Given the description of an element on the screen output the (x, y) to click on. 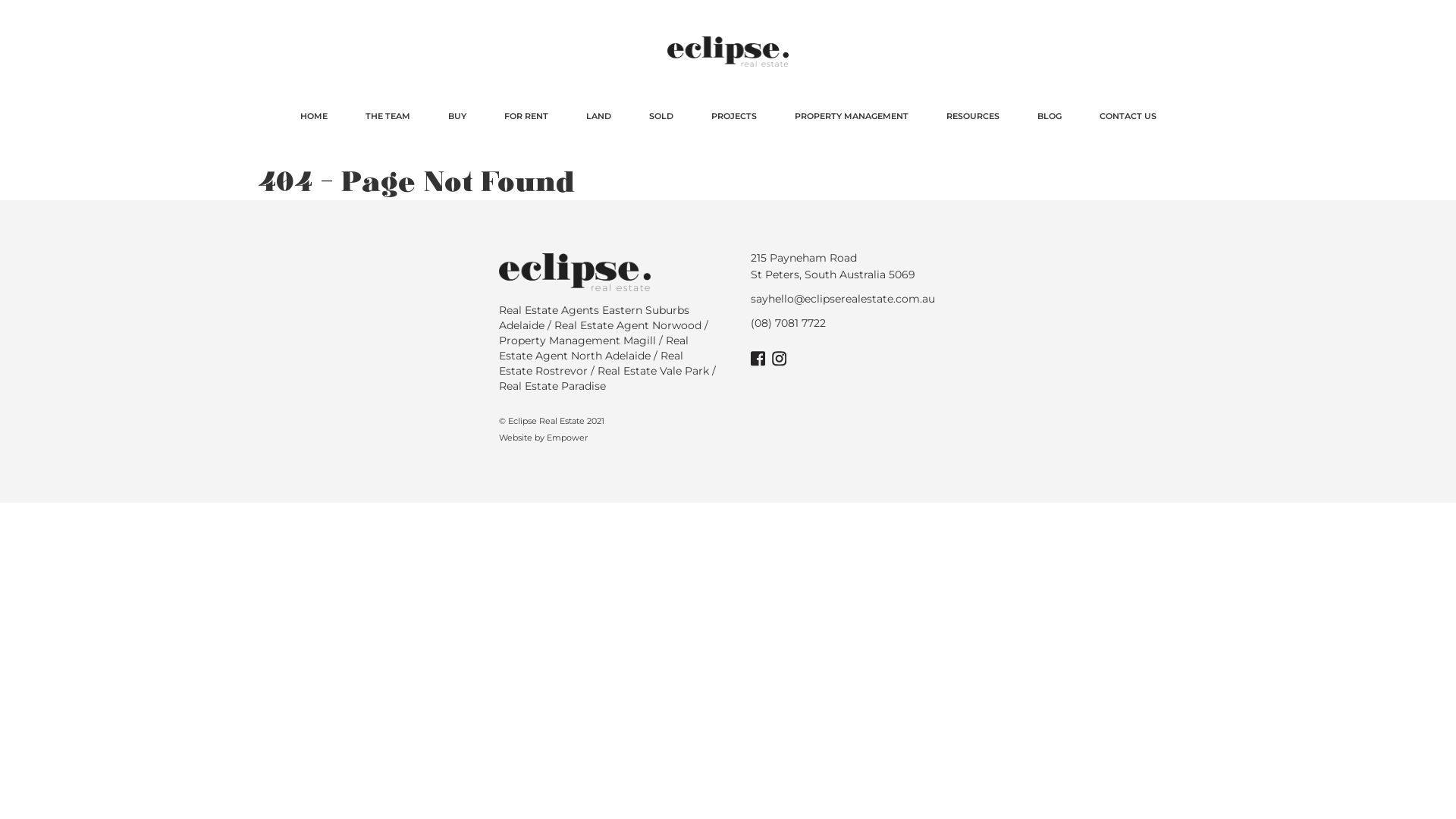
Real Estate Vale Park Element type: text (653, 370)
Real Estate Agent North Adelaide Element type: text (593, 347)
CONTACT US Element type: text (1126, 115)
SOLD Element type: text (660, 115)
Real Estate Agent Norwood Element type: text (626, 325)
Real Estate Paradise Element type: text (551, 385)
BLOG Element type: text (1048, 115)
PROJECTS Element type: text (733, 115)
Real Estate Rostrevor Element type: text (590, 362)
Property Management Magill Element type: text (576, 340)
LAND Element type: text (598, 115)
BUY Element type: text (457, 115)
HOME Element type: text (312, 115)
THE TEAM Element type: text (386, 115)
PROPERTY MANAGEMENT Element type: text (850, 115)
FOR RENT Element type: text (526, 115)
Website by Empower Element type: text (542, 437)
RESOURCES Element type: text (971, 115)
Real Estate Agents Eastern Suburbs Adelaide Element type: text (593, 317)
